Given the description of an element on the screen output the (x, y) to click on. 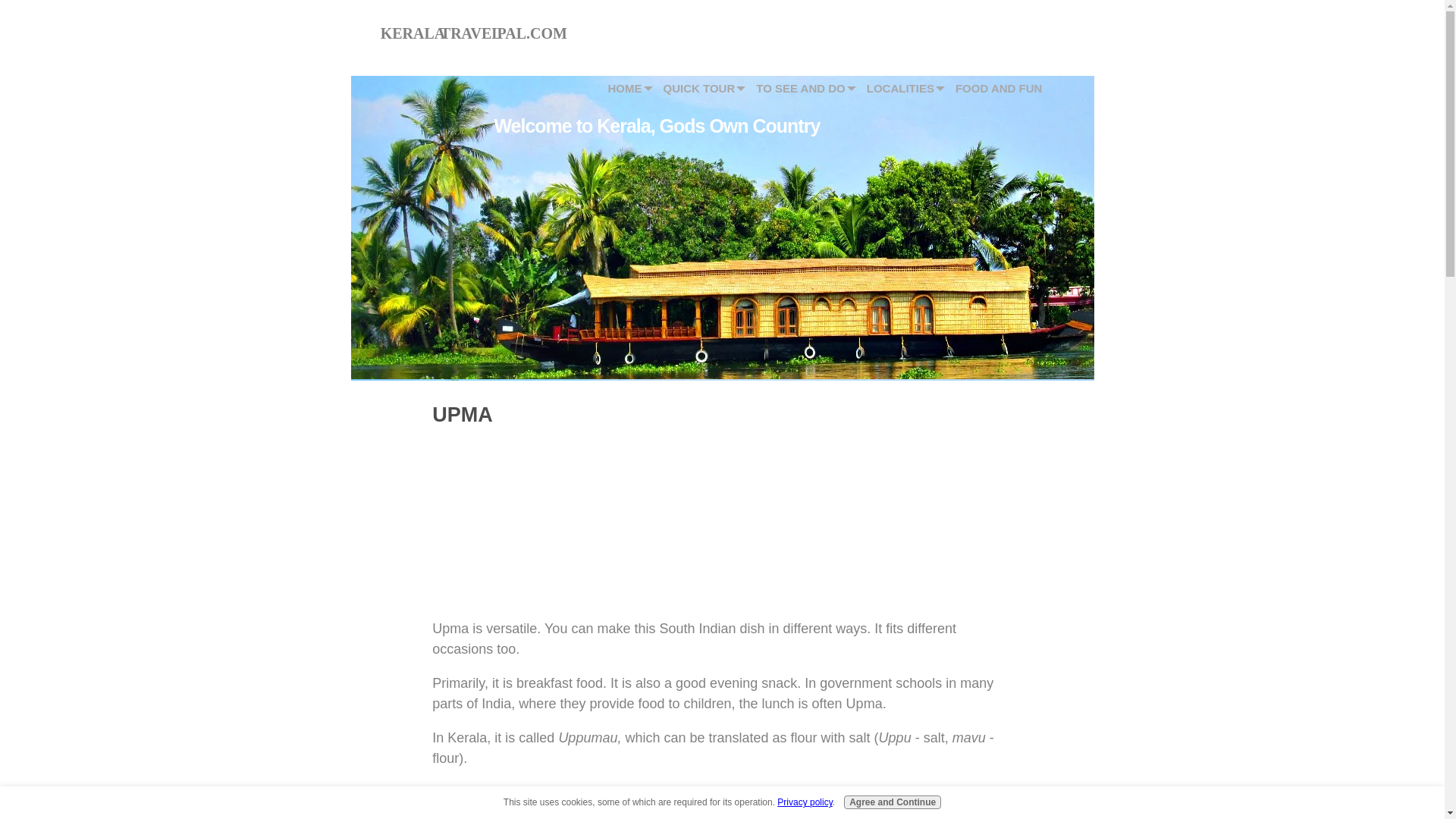
Advertisement (507, 509)
Agree and Continue (892, 802)
HOME (614, 87)
KERALA TRAVEL PAL.COM (473, 33)
Privacy policy (804, 801)
